Given the description of an element on the screen output the (x, y) to click on. 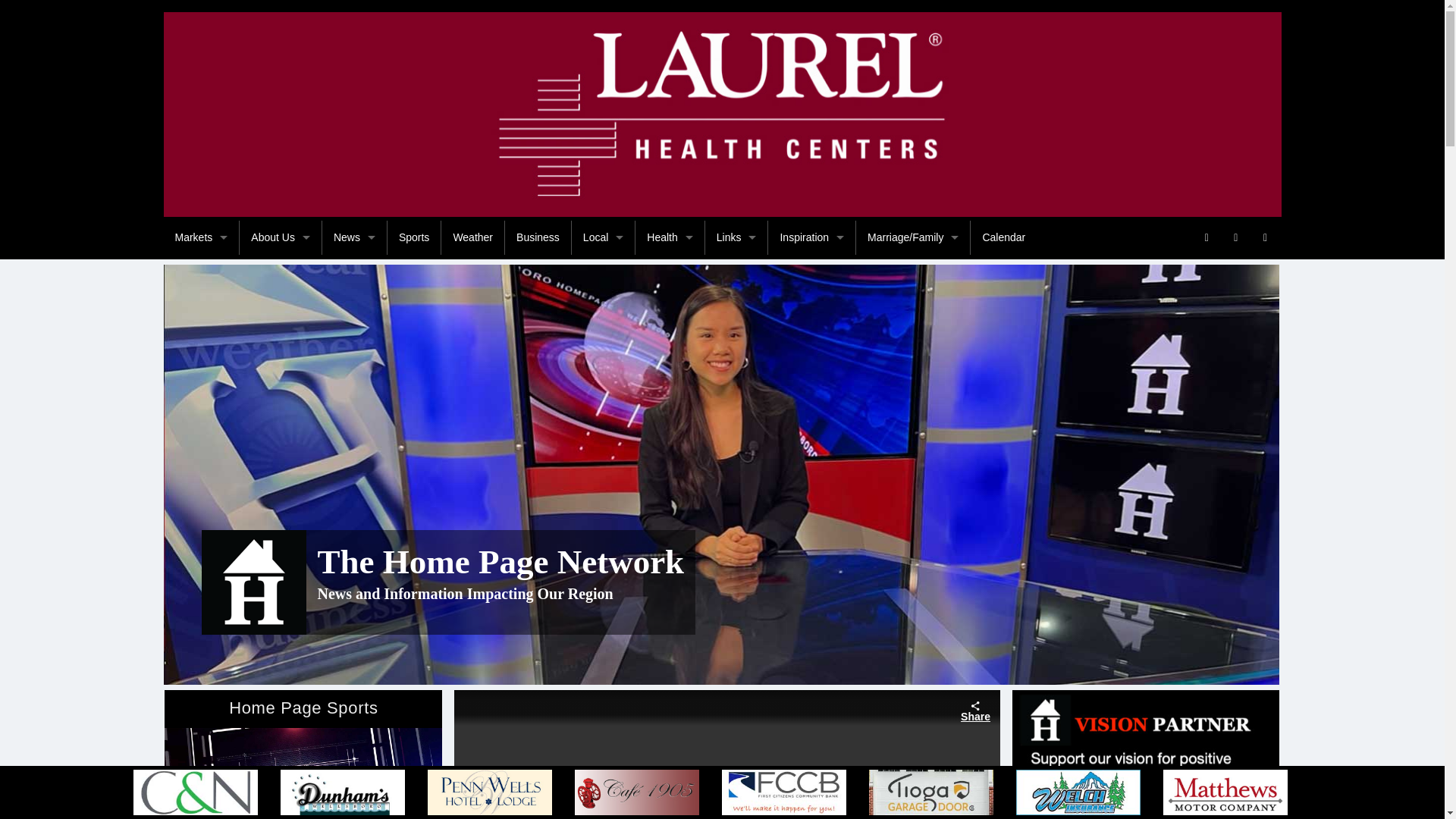
Troy Home Page (201, 442)
About Home Page (280, 271)
App Information (280, 408)
The Home Page Network (254, 581)
MSNBC (354, 715)
Home Page Sports (303, 773)
BBC (354, 442)
Mountain Home (354, 681)
Canton Home Page (201, 374)
Archives (280, 646)
CNN (354, 510)
Contact Us (280, 510)
Daily Wire (354, 578)
Newsmax (354, 339)
News (354, 237)
